Given the description of an element on the screen output the (x, y) to click on. 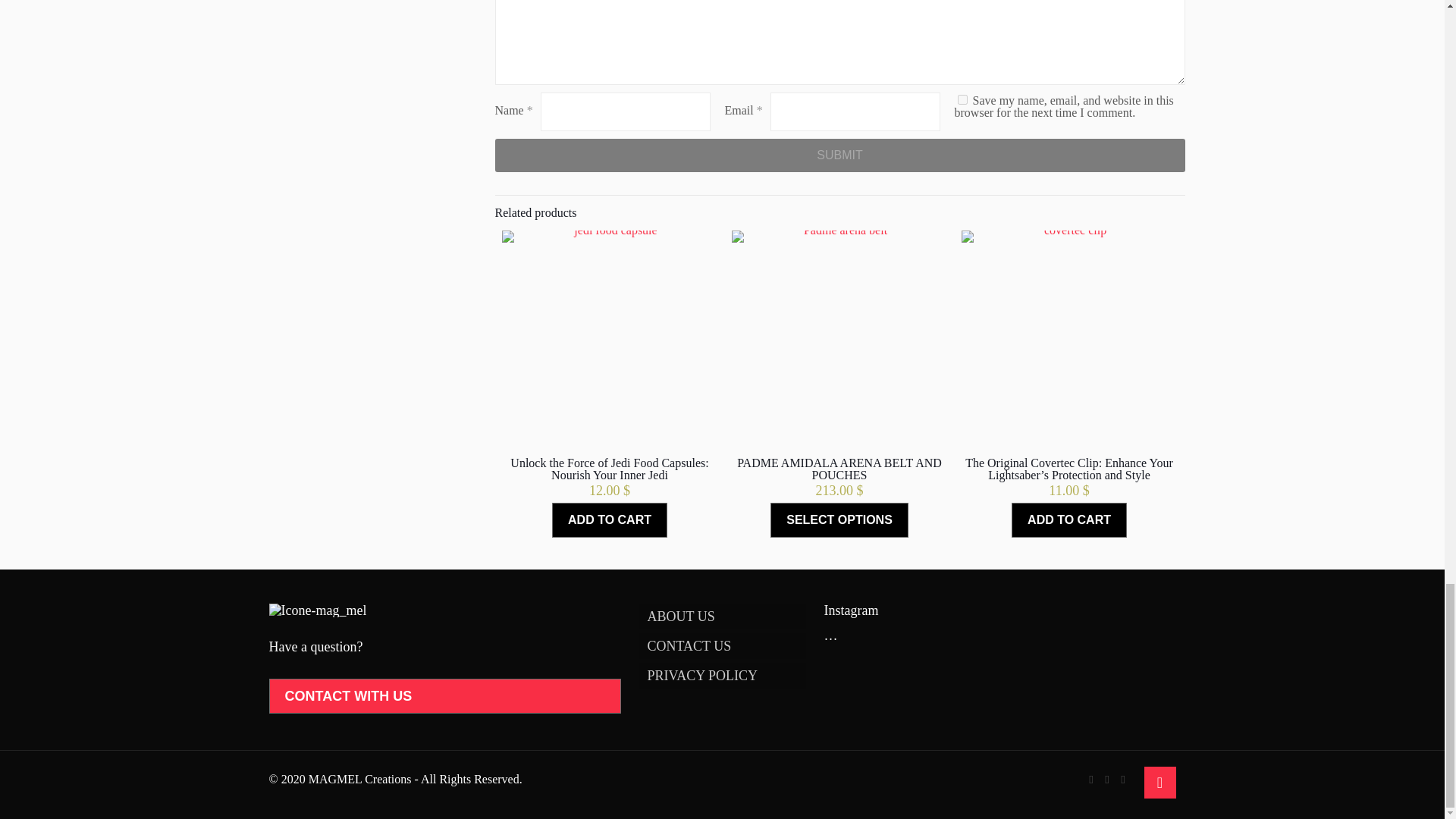
Pinterest (1106, 779)
yes (963, 99)
Instagram (1123, 779)
Submit (840, 154)
Facebook (1091, 779)
